Given the description of an element on the screen output the (x, y) to click on. 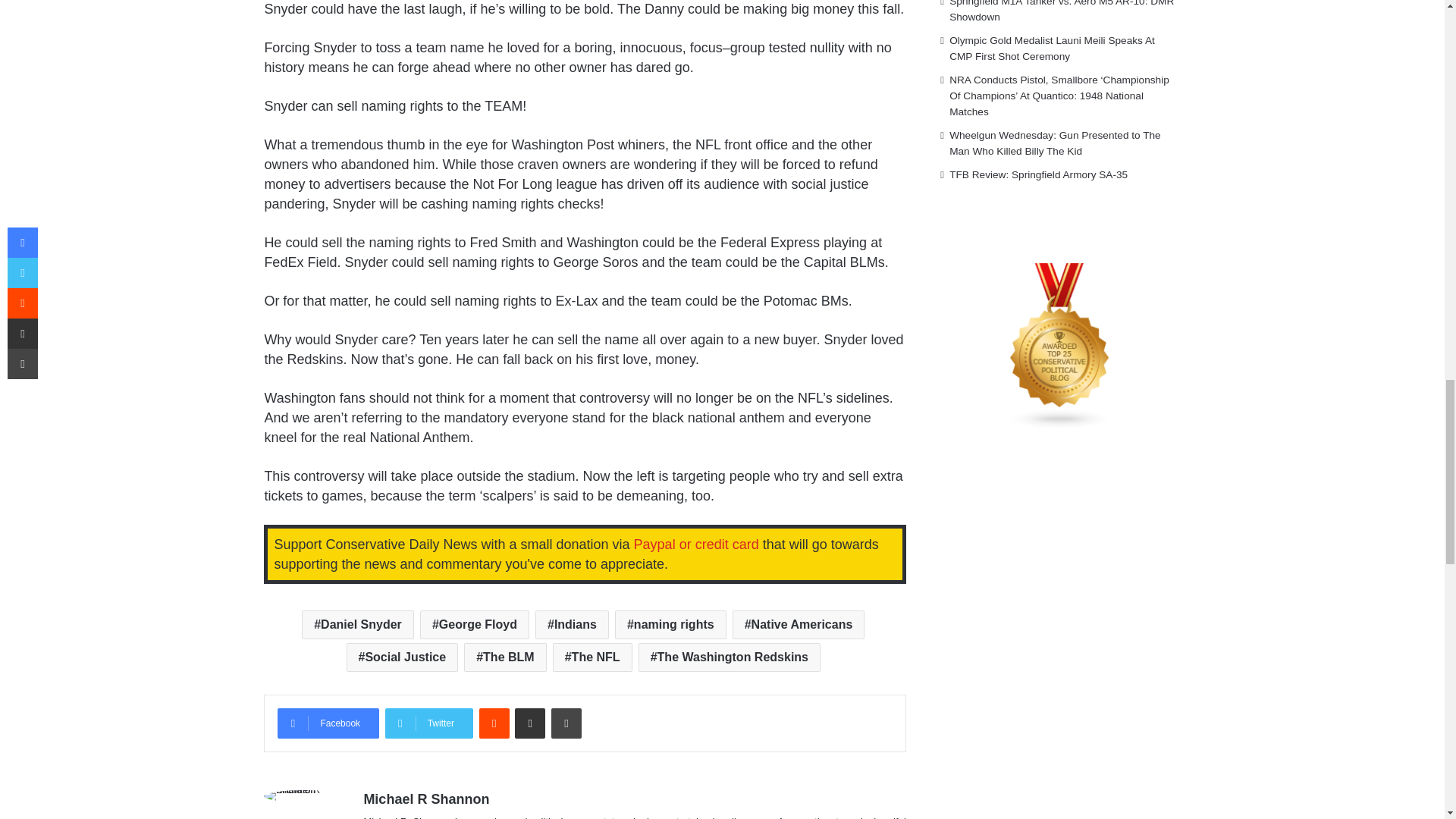
Twitter (429, 723)
Facebook (328, 723)
Reddit (494, 723)
